Given the description of an element on the screen output the (x, y) to click on. 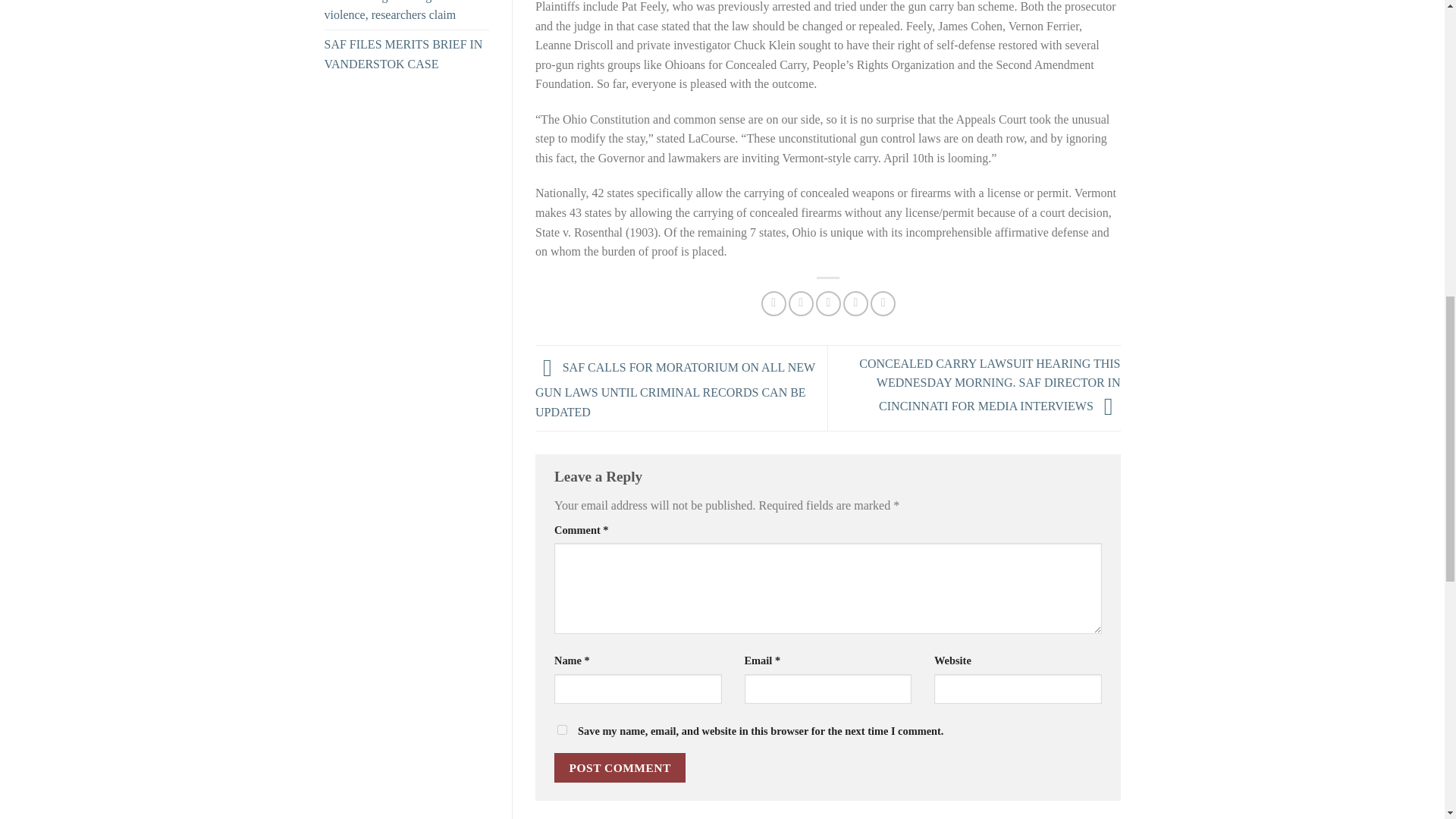
Post Comment (619, 767)
Email to a Friend (828, 303)
Share on LinkedIn (882, 303)
Share on Facebook (773, 303)
Share on Twitter (801, 303)
Pin on Pinterest (855, 303)
yes (562, 729)
